Given the description of an element on the screen output the (x, y) to click on. 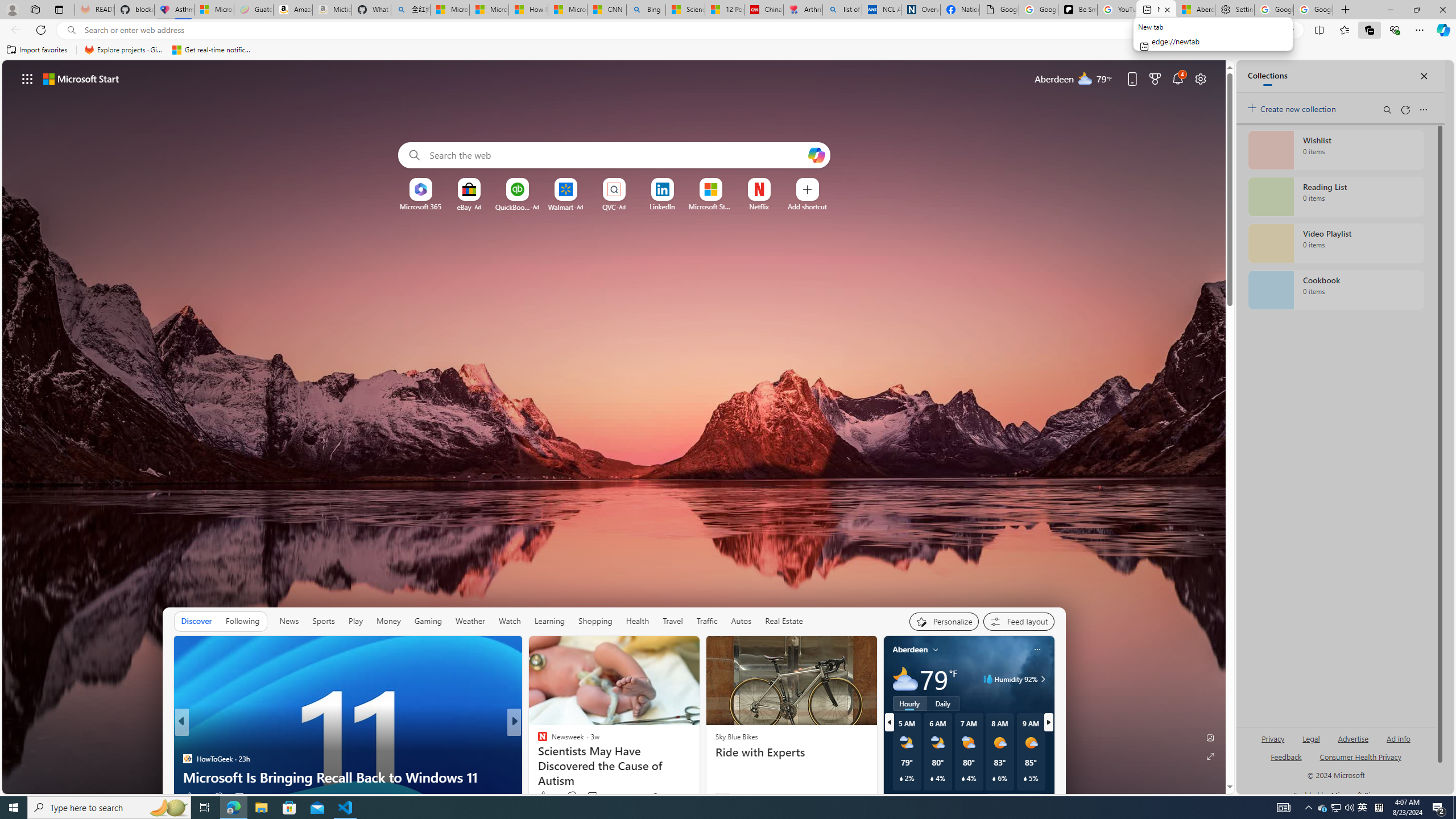
Million Dollar Sense (537, 740)
Daily (942, 703)
Import favorites (36, 49)
Class: weather-arrow-glyph (1043, 678)
Edit Background (1210, 737)
